Given the description of an element on the screen output the (x, y) to click on. 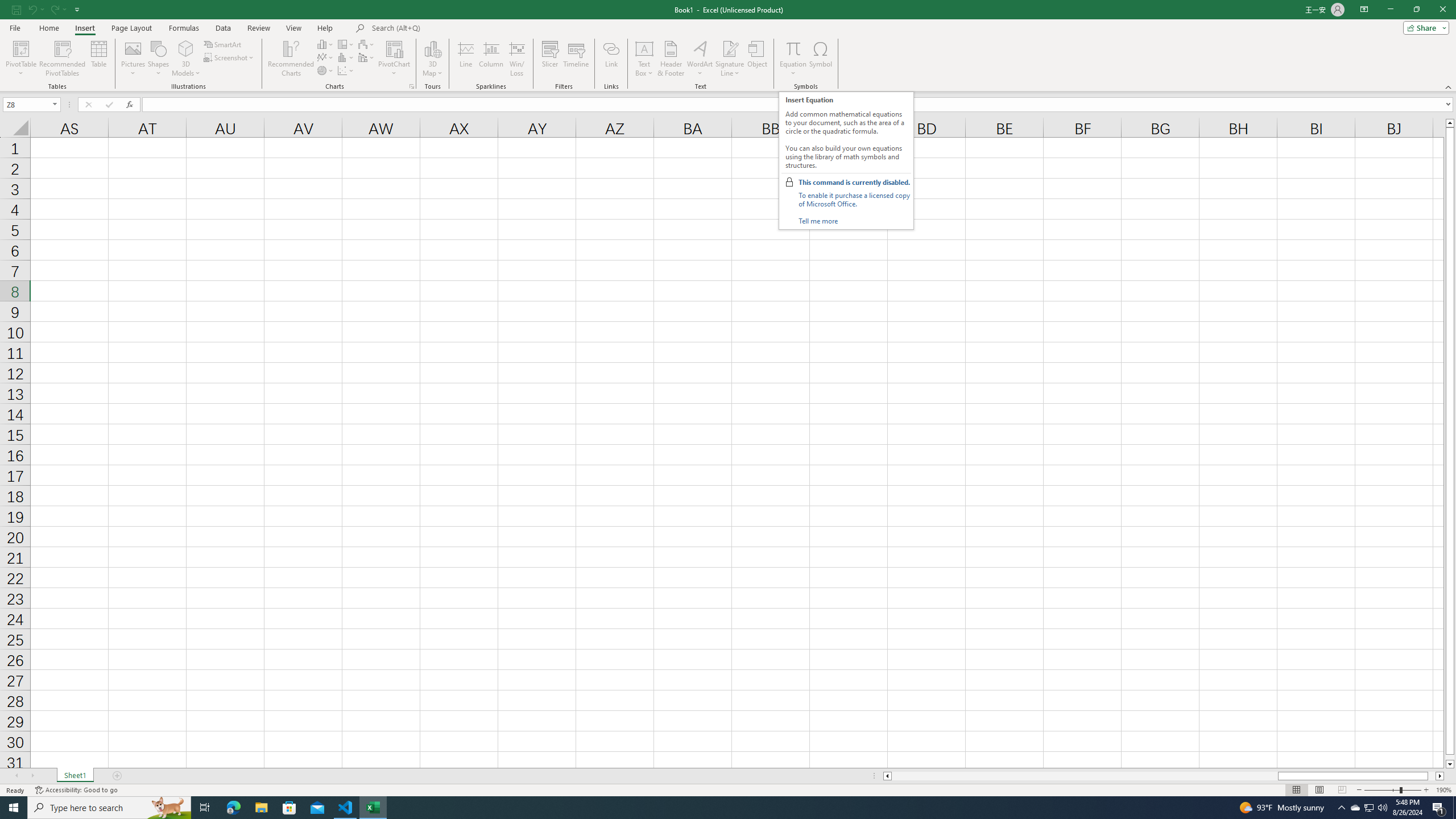
This command is currently disabled. (854, 181)
Link (611, 58)
WordArt (699, 58)
Insert Hierarchy Chart (346, 44)
Line (465, 58)
Object... (757, 58)
Shapes (158, 58)
